Given the description of an element on the screen output the (x, y) to click on. 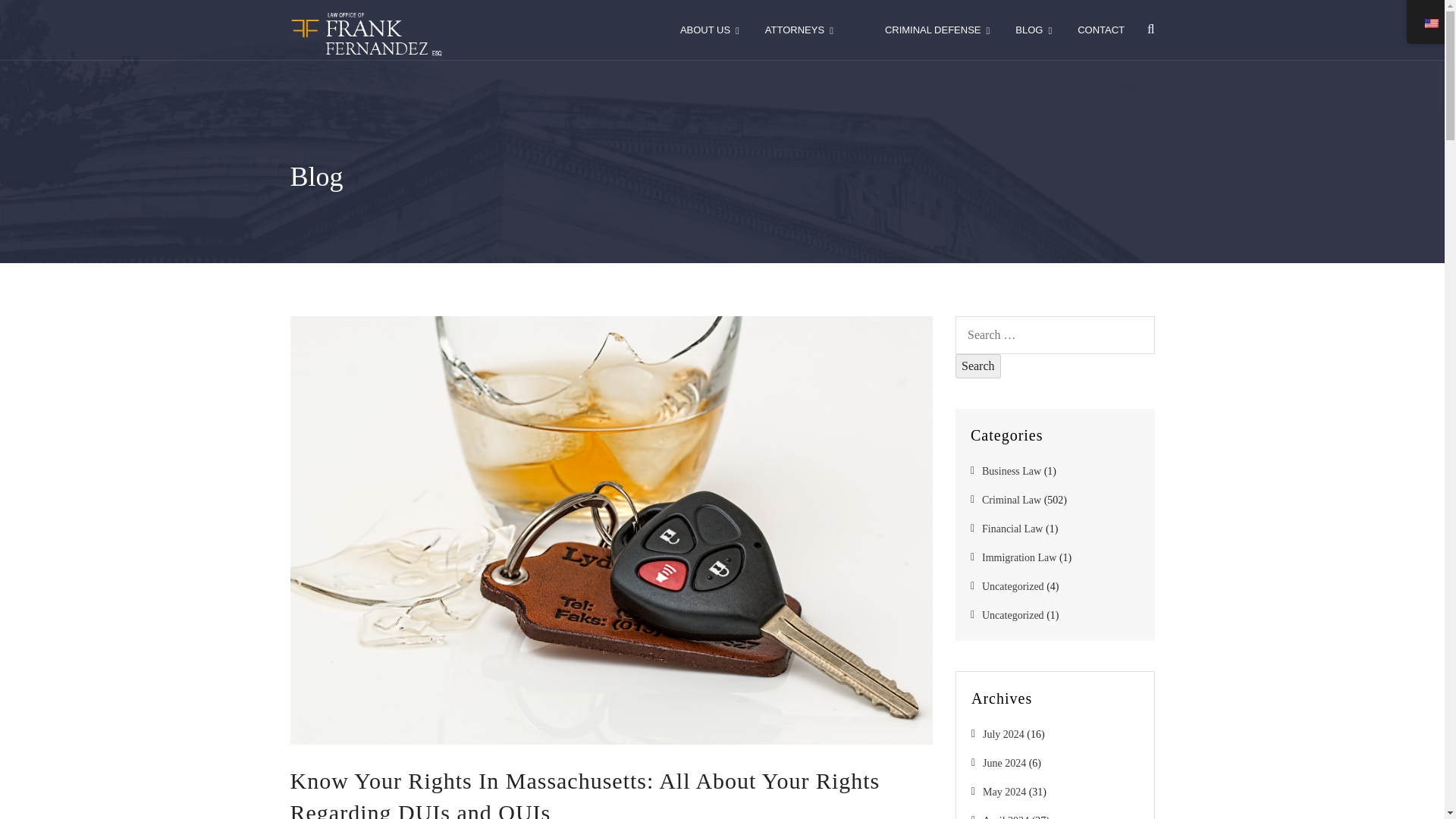
CRIMINAL DEFENSE (937, 29)
ABOUT US (709, 29)
Search (978, 365)
ATTORNEYS (798, 29)
Search (978, 365)
